Given the description of an element on the screen output the (x, y) to click on. 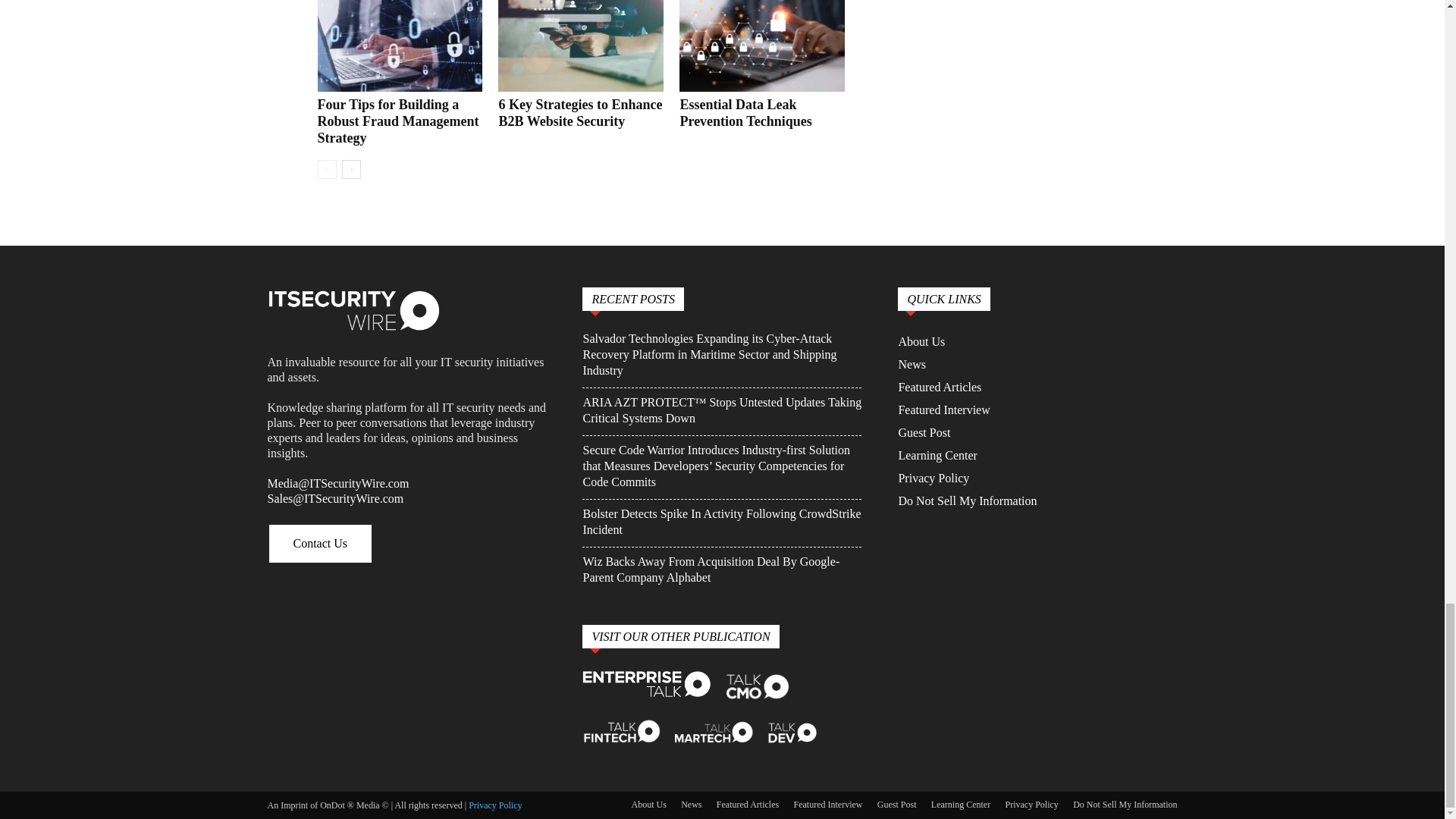
Four Tips for Building a Robust Fraud Management Strategy (399, 45)
6 Key Strategies to Enhance B2B Website Security (580, 45)
Four Tips for Building a Robust Fraud Management Strategy (398, 121)
6 Key Strategies to Enhance B2B Website Security (579, 112)
